Given the description of an element on the screen output the (x, y) to click on. 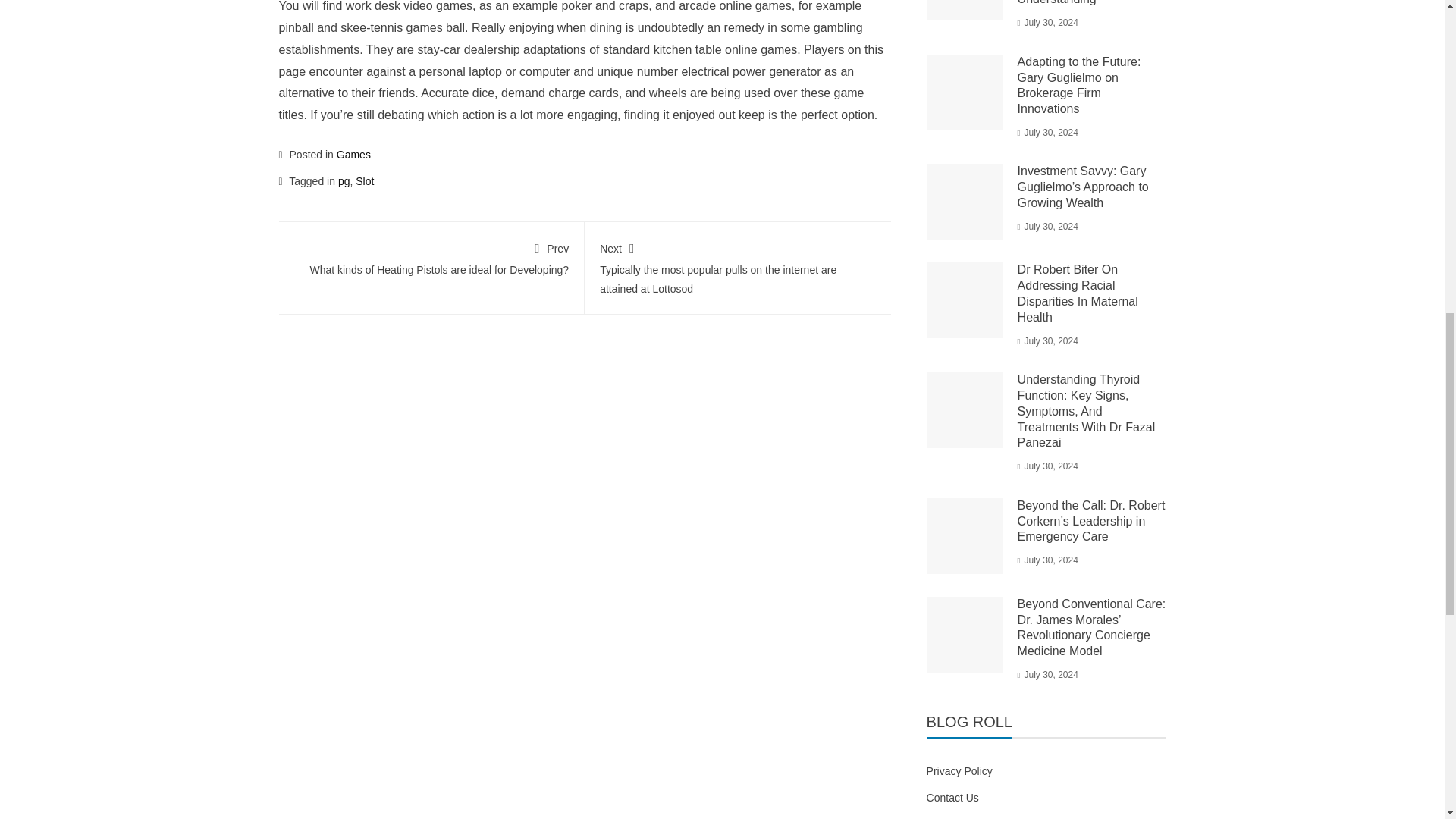
Slot (364, 181)
Games (353, 154)
pg (343, 181)
